Given the description of an element on the screen output the (x, y) to click on. 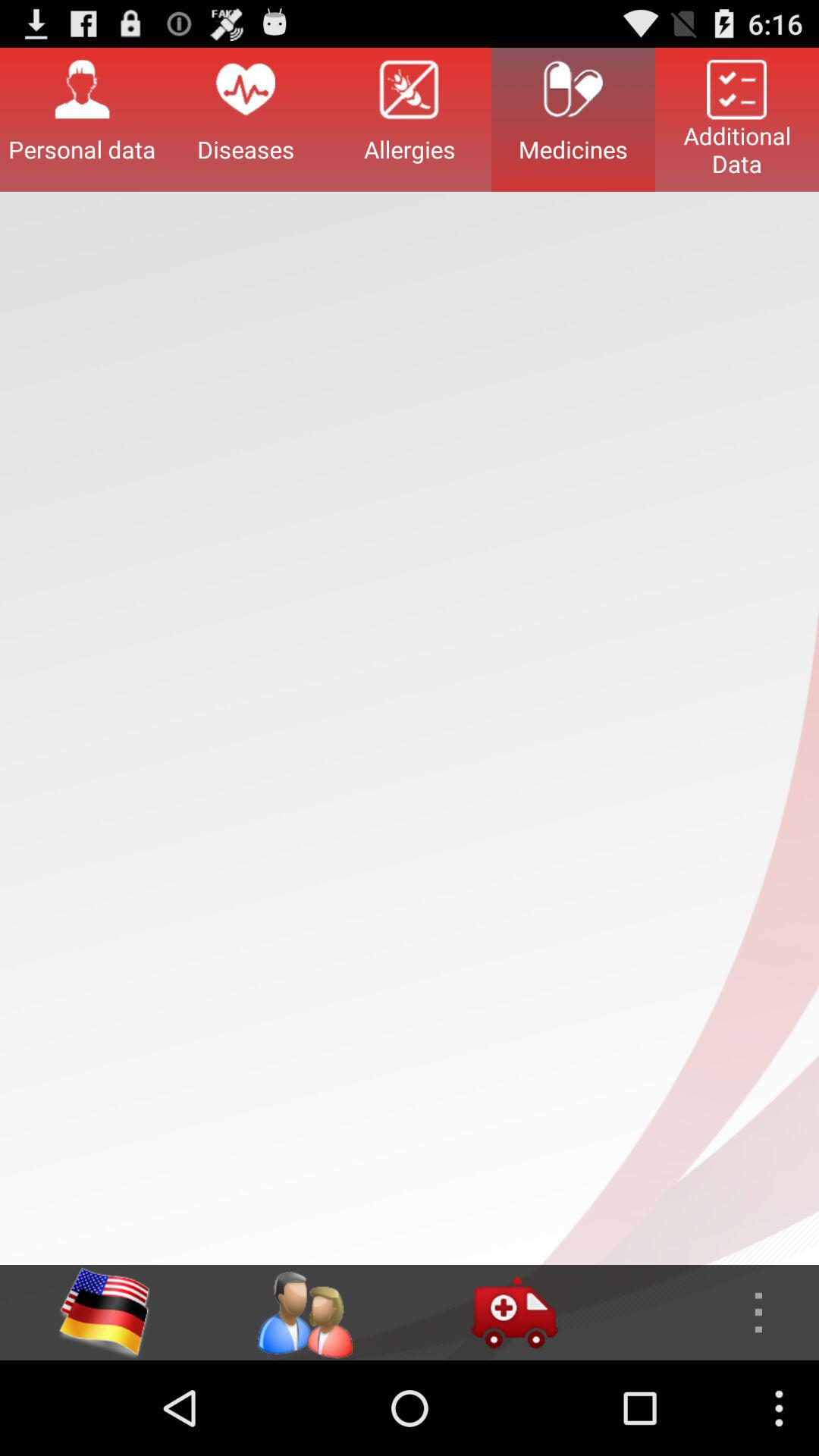
select item next to the medicines button (737, 119)
